Given the description of an element on the screen output the (x, y) to click on. 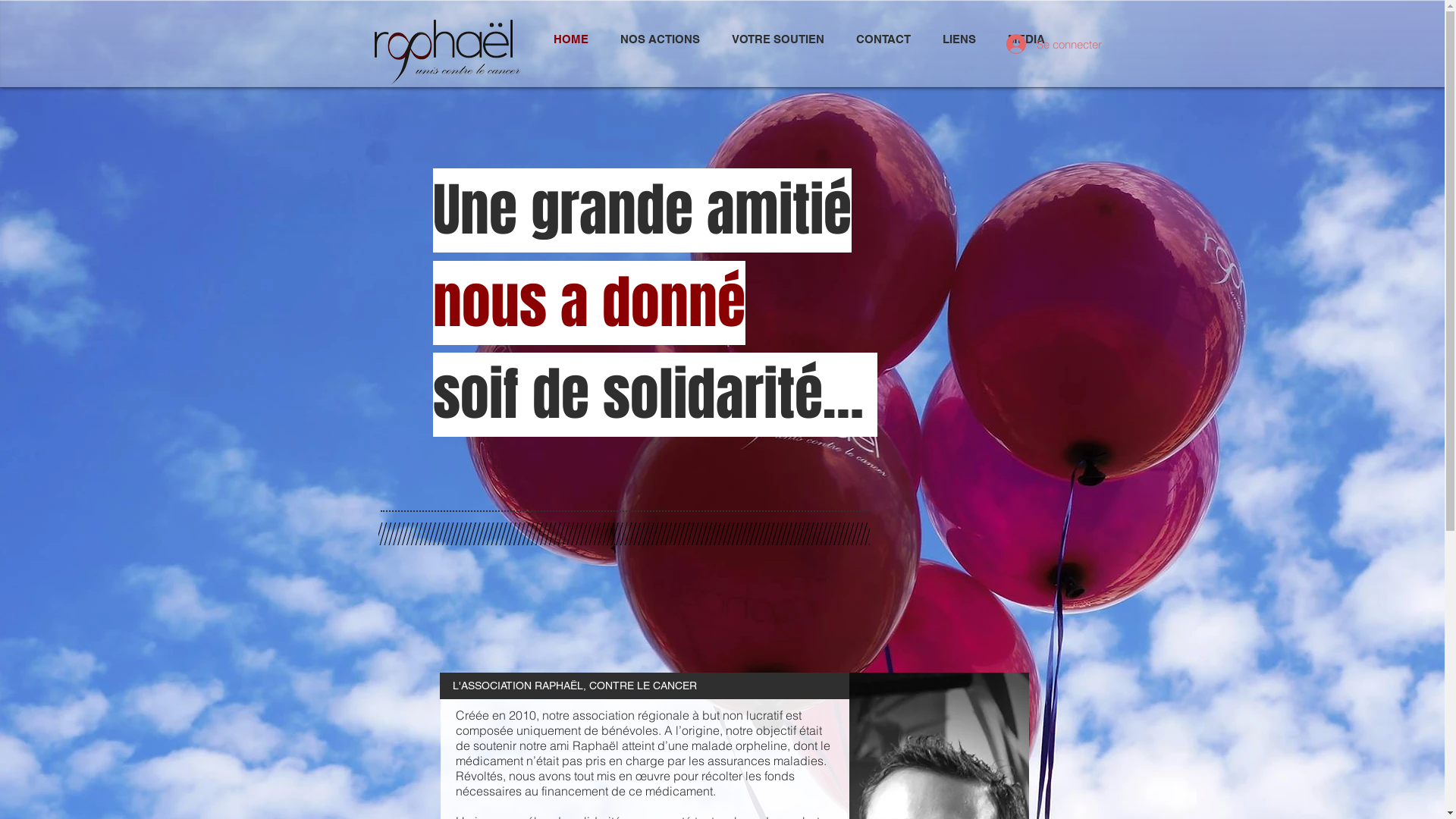
NOS ACTIONS Element type: text (659, 39)
HOME Element type: text (569, 39)
CONTACT Element type: text (883, 39)
MEDIA Element type: text (1025, 39)
LIENS Element type: text (958, 39)
Se connecter Element type: text (1039, 43)
VOTRE SOUTIEN Element type: text (777, 39)
